Given the description of an element on the screen output the (x, y) to click on. 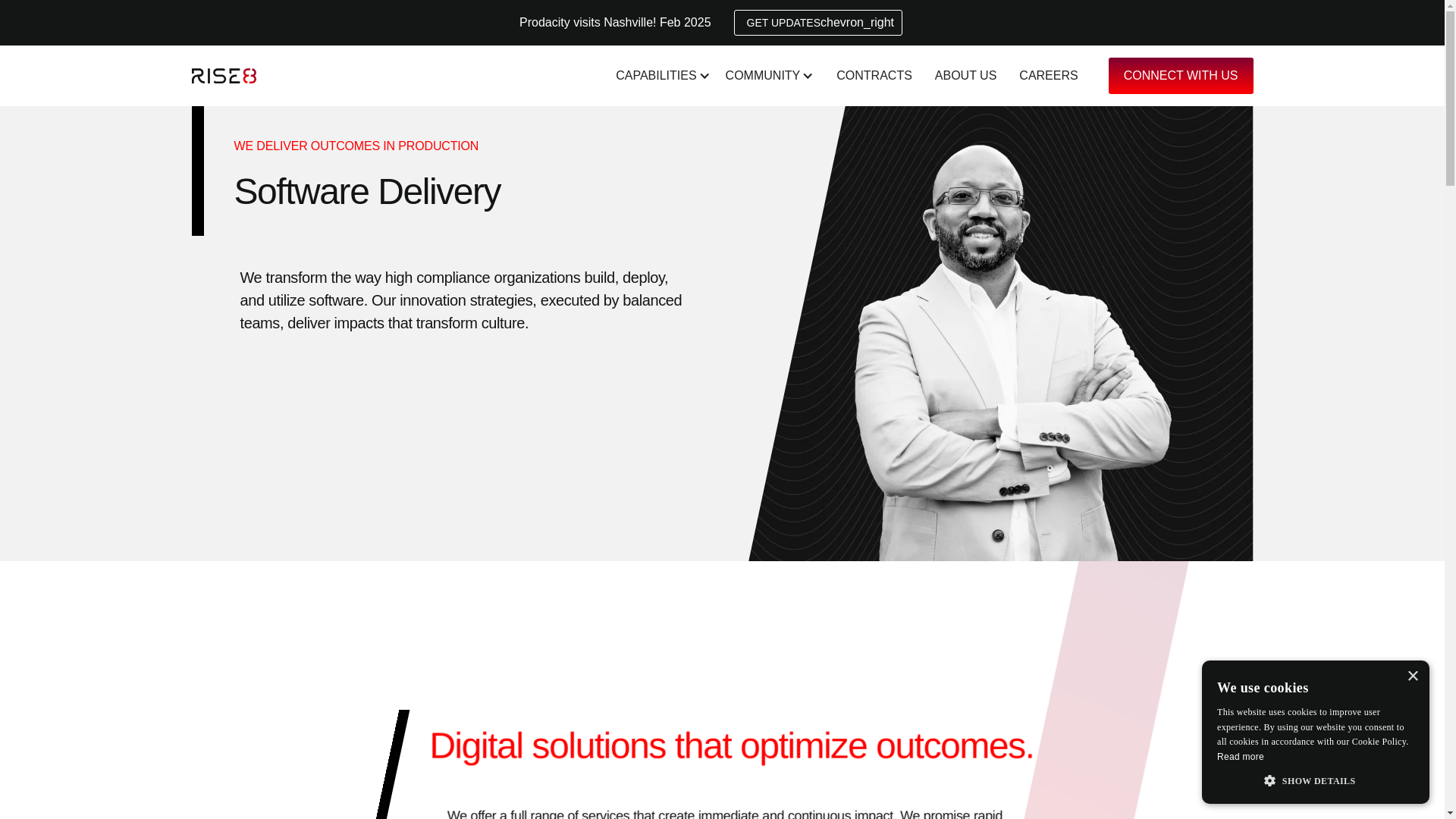
Read more (1240, 756)
ABOUT US (962, 75)
CONNECT WITH US (1180, 75)
CAREERS (1044, 75)
CONTRACTS (870, 75)
